Given the description of an element on the screen output the (x, y) to click on. 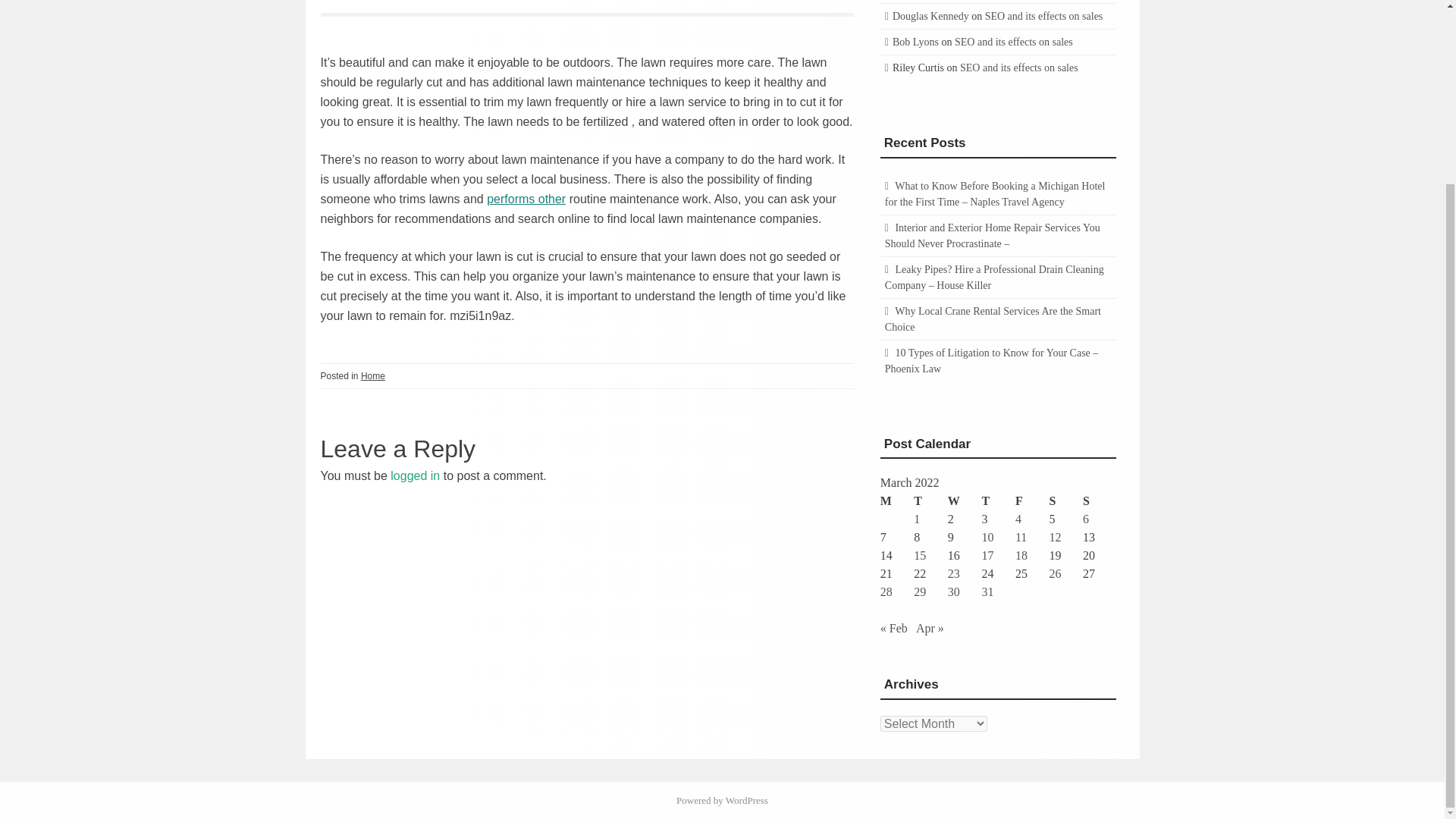
Tuesday (930, 501)
30 (953, 591)
Douglas Kennedy (930, 16)
Thursday (997, 501)
31 (986, 591)
performs other (526, 198)
Why Local Crane Rental Services Are the Smart Choice (992, 318)
SEO and its effects on sales (1014, 41)
Saturday (1065, 501)
Friday (1031, 501)
